Given the description of an element on the screen output the (x, y) to click on. 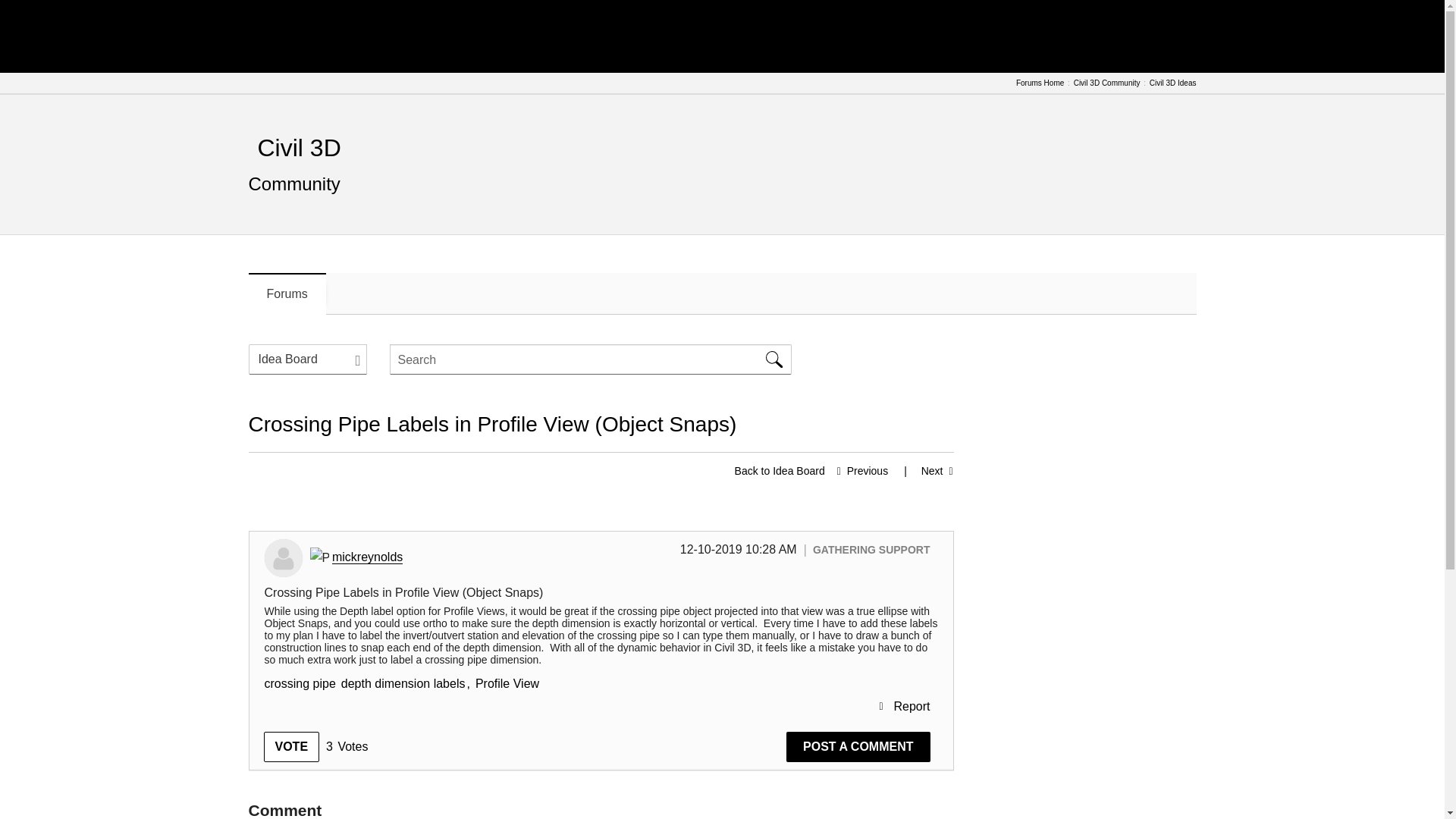
mickreynolds (367, 557)
Profile View (507, 683)
crossing pipe (298, 683)
Search (591, 358)
Civil 3D (298, 147)
depth dimension labels (402, 683)
Back to Idea Board (779, 470)
Report (904, 706)
Forums Home (1040, 82)
POST A COMMENT (858, 747)
